Given the description of an element on the screen output the (x, y) to click on. 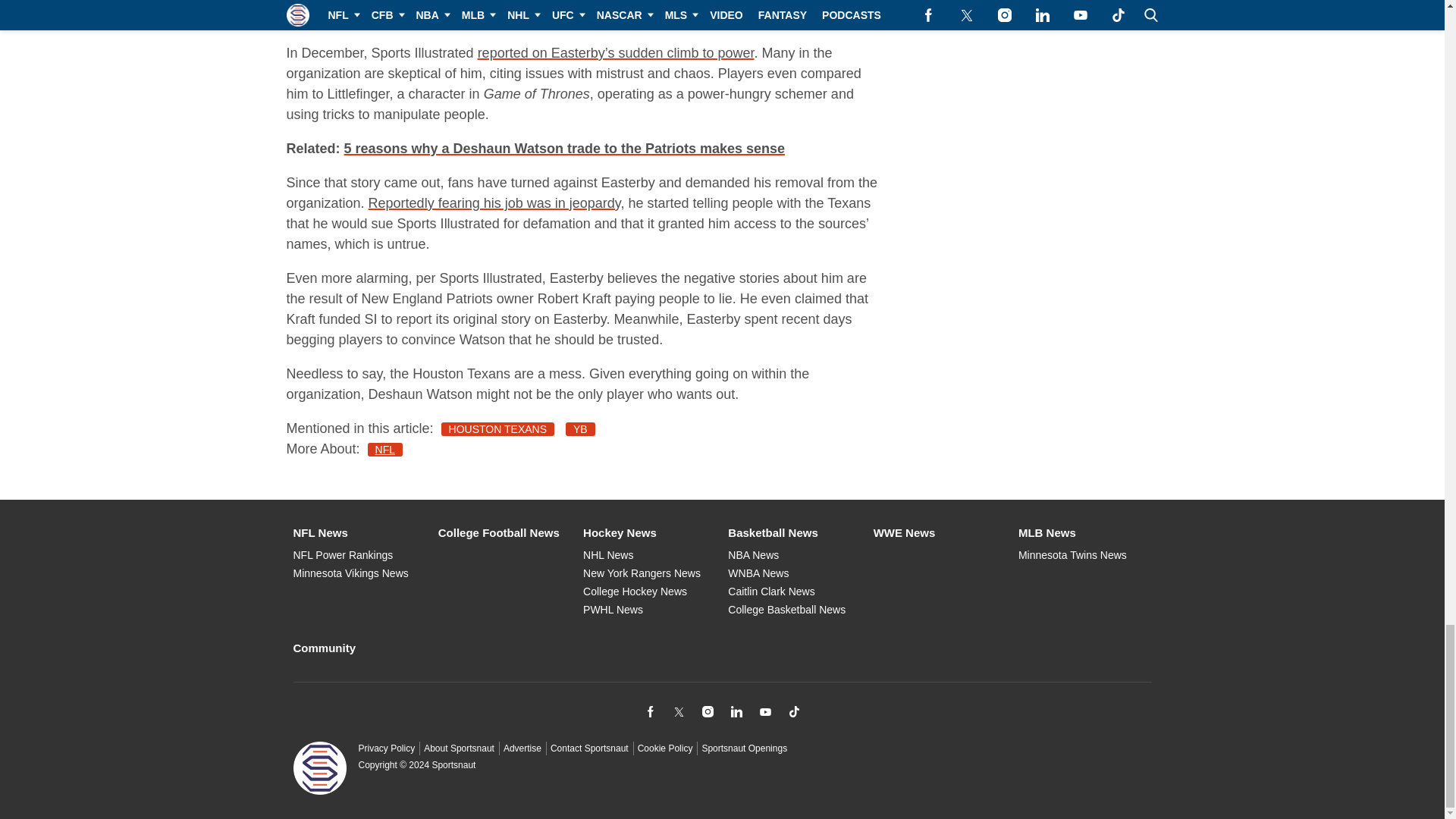
Follow us on Twitter (678, 712)
Follow us on Facebook (650, 712)
Connect with us on LinkedIn (736, 712)
Subscribe to our YouTube channel (765, 712)
Follow us on Instagram (707, 712)
Connect with us on TikTok (794, 712)
